Given the description of an element on the screen output the (x, y) to click on. 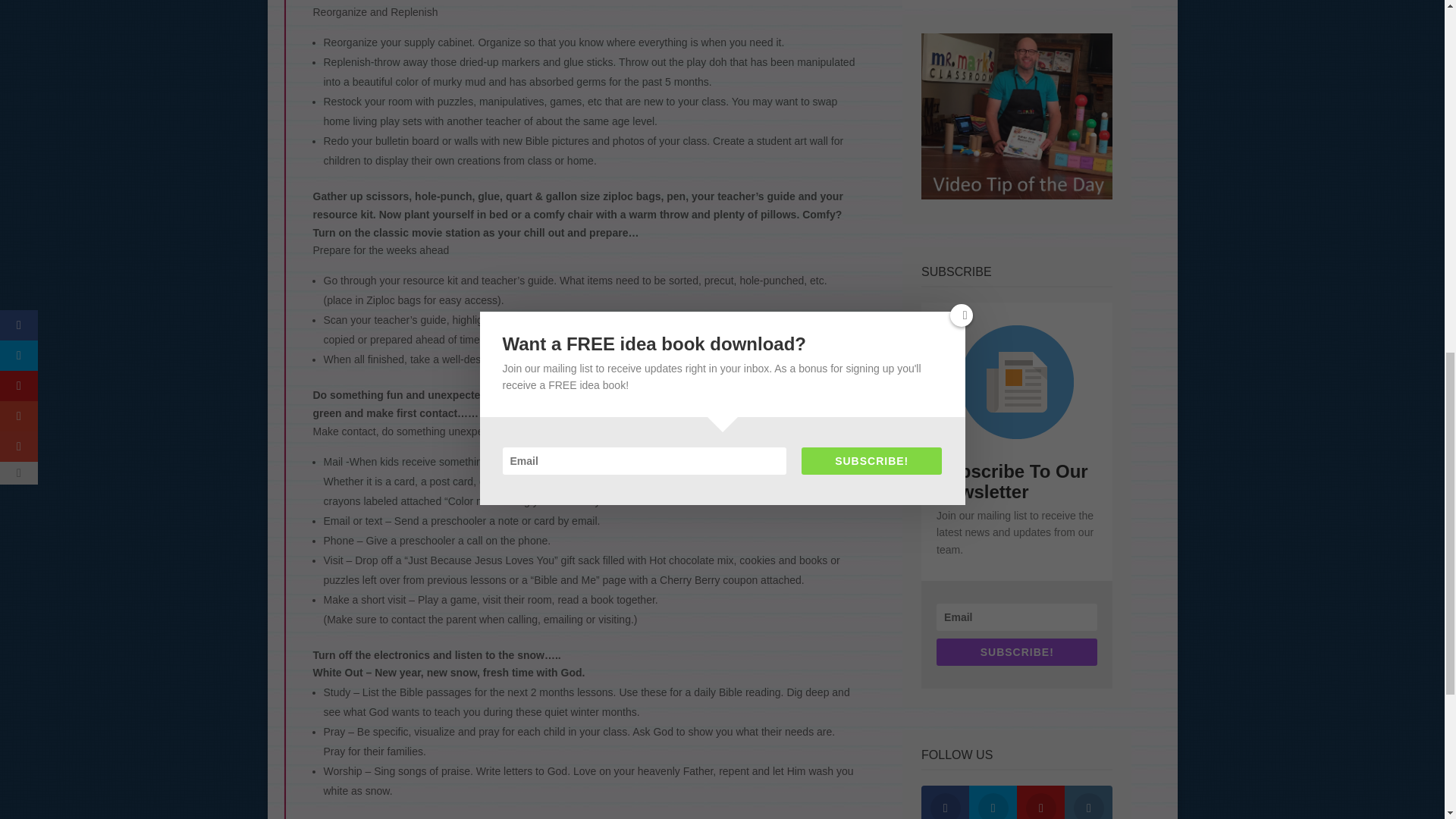
SUBSCRIBE! (1016, 651)
